Given the description of an element on the screen output the (x, y) to click on. 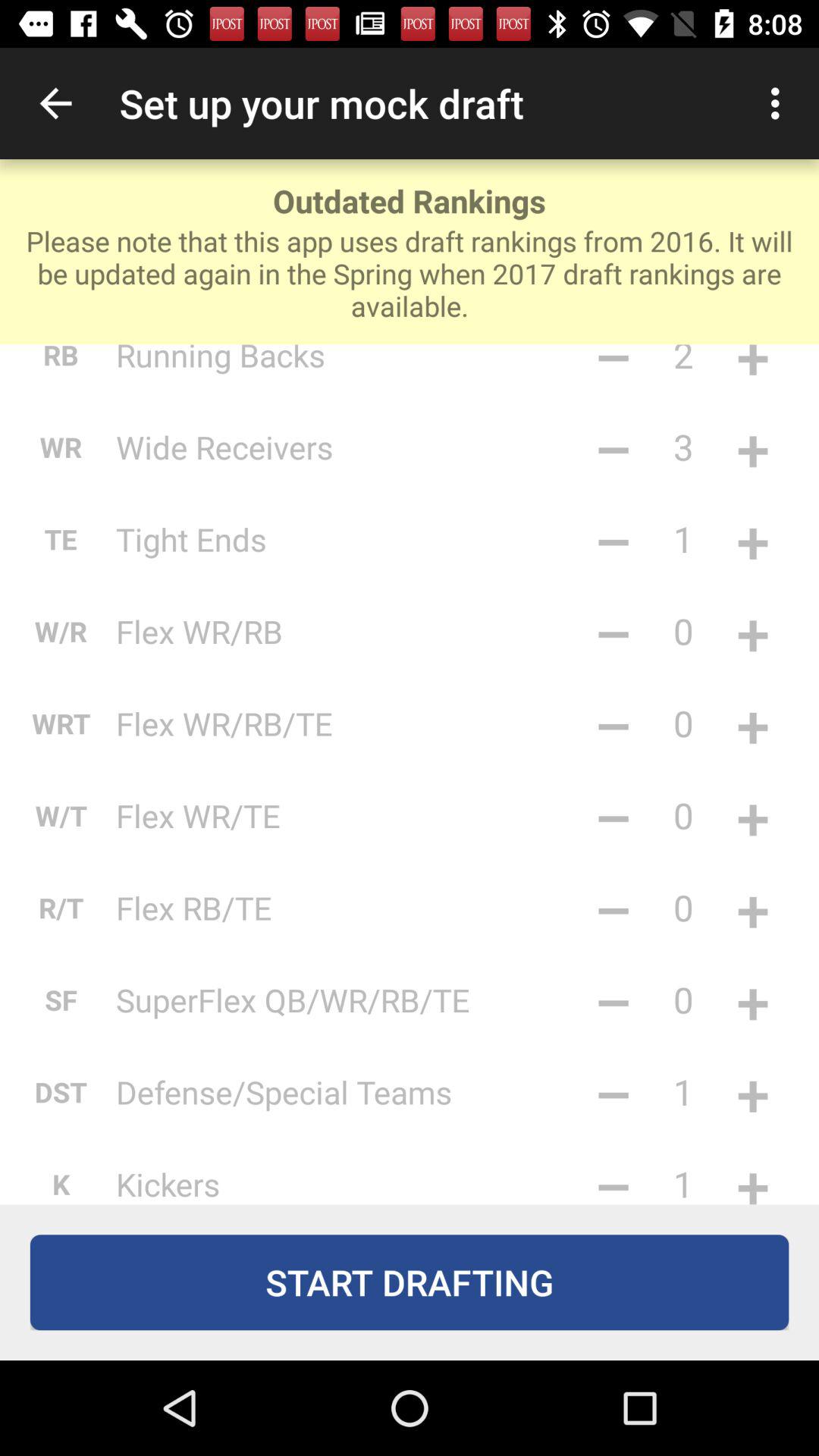
scroll to defense/special teams item (344, 1091)
